Given the description of an element on the screen output the (x, y) to click on. 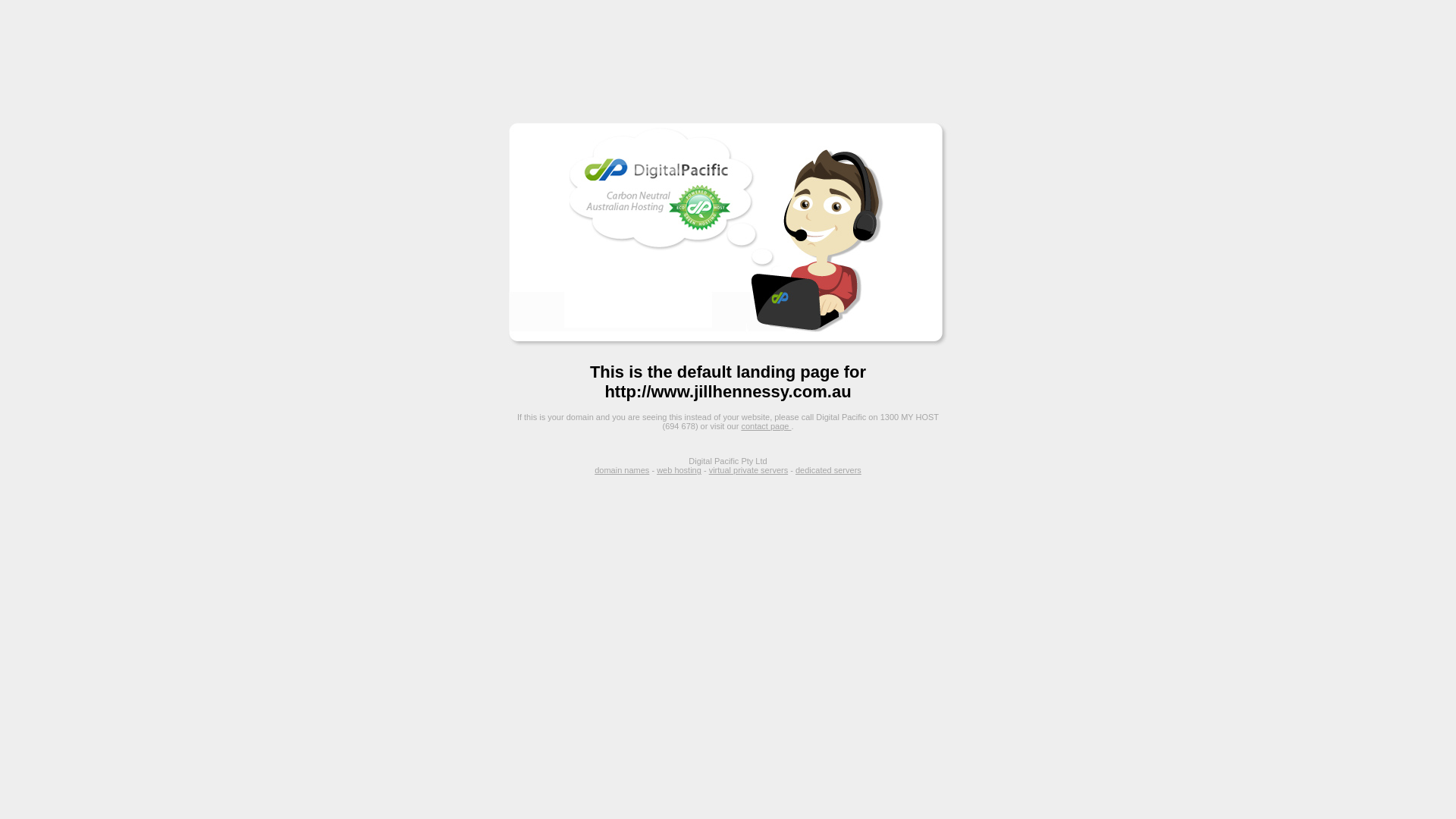
domain names Element type: text (621, 469)
dedicated servers Element type: text (828, 469)
contact page Element type: text (765, 425)
virtual private servers Element type: text (748, 469)
web hosting Element type: text (678, 469)
